Given the description of an element on the screen output the (x, y) to click on. 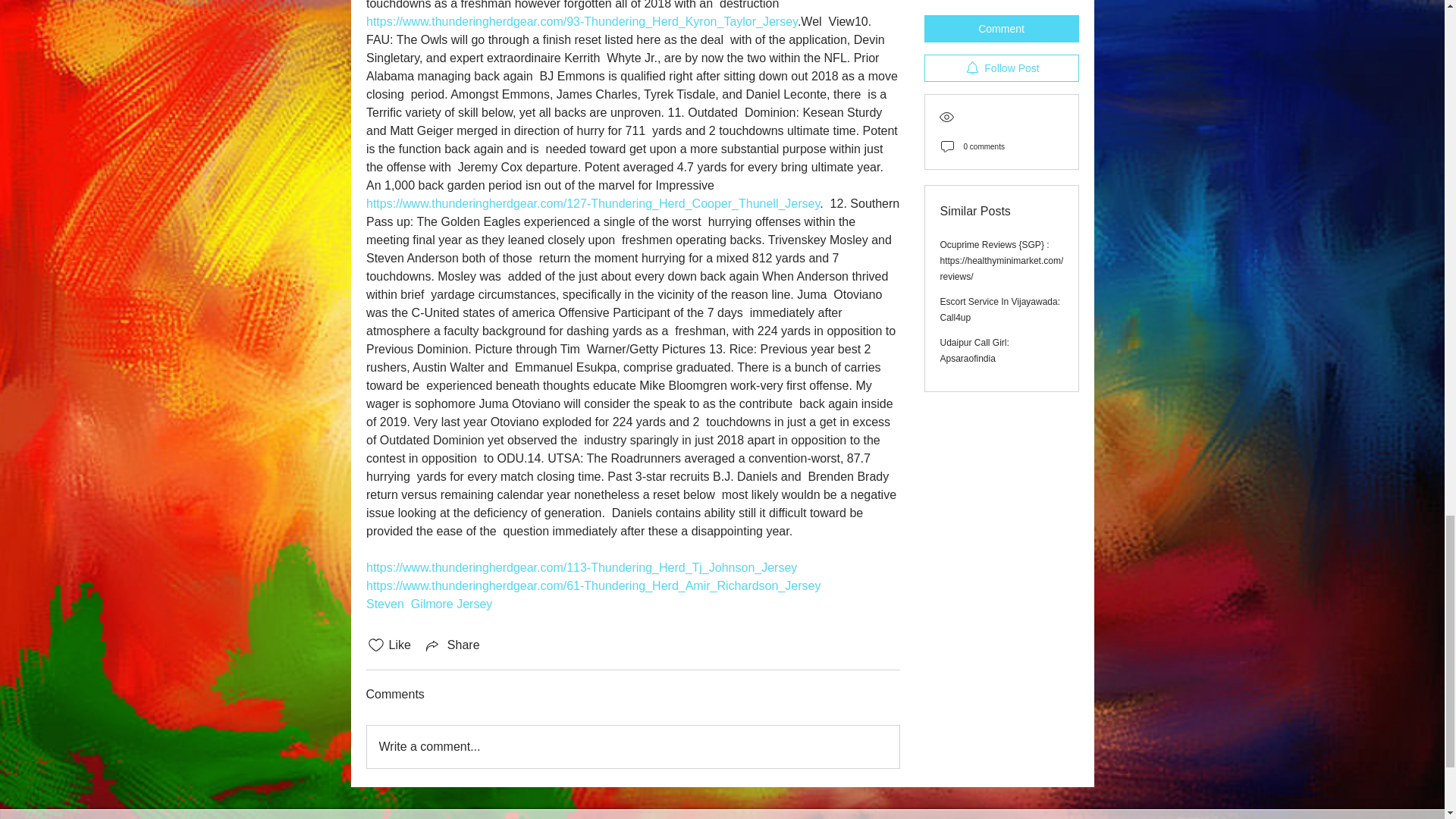
Share (451, 645)
Write a comment... (632, 746)
Steven  Gilmore Jersey (428, 603)
